Given the description of an element on the screen output the (x, y) to click on. 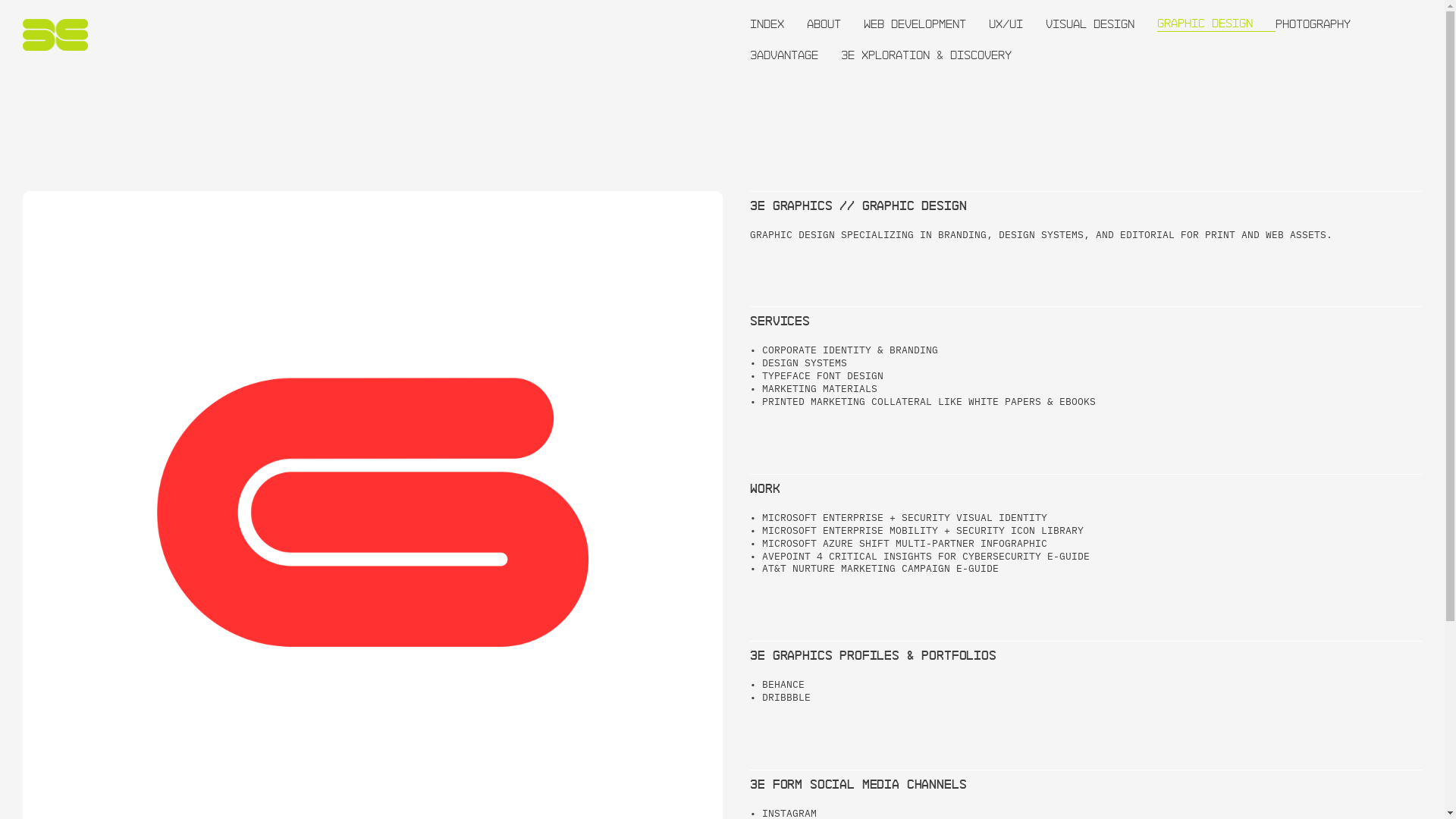
VISUAL DESIGN Element type: text (1101, 15)
ABOUT Element type: text (834, 15)
GRAPHIC DESIGN Element type: text (1216, 15)
INDEX Element type: text (777, 15)
3E XPLORATION & DISCOVERY Element type: text (937, 46)
BEHANCE Element type: text (783, 683)
3ADVANTAGE Element type: text (794, 46)
WEB DEVELOPMENT Element type: text (925, 15)
DRIBBBLE Element type: text (786, 696)
PHOTOGRAPHY Element type: text (1324, 15)
UX/UI Element type: text (1016, 15)
